Given the description of an element on the screen output the (x, y) to click on. 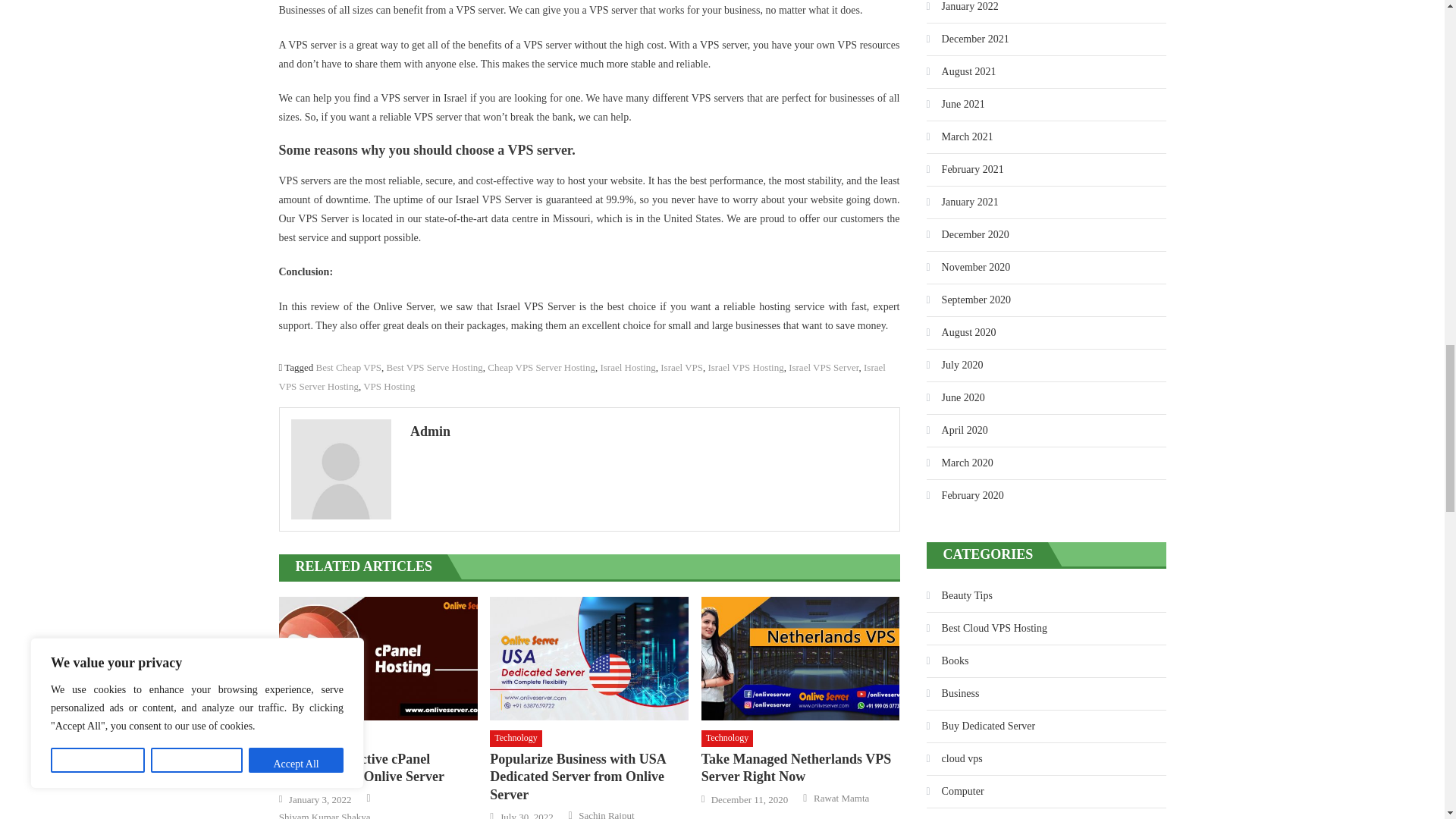
Get Most Effective cPanel Hosting From Onlive Server (378, 659)
Take Managed Netherlands VPS Server Right Now (800, 659)
